Given the description of an element on the screen output the (x, y) to click on. 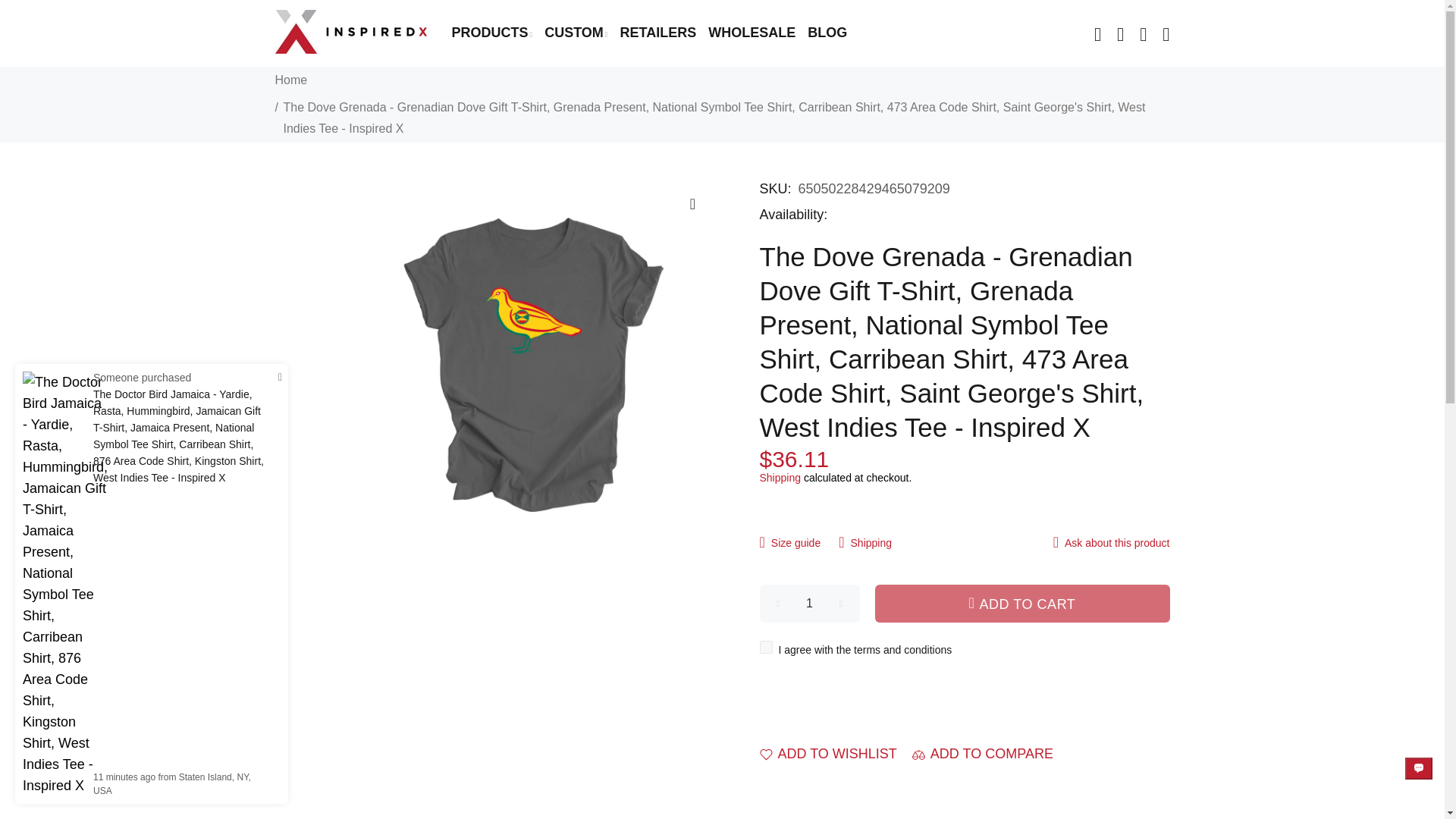
1 (810, 603)
PRODUCTS (490, 32)
